Given the description of an element on the screen output the (x, y) to click on. 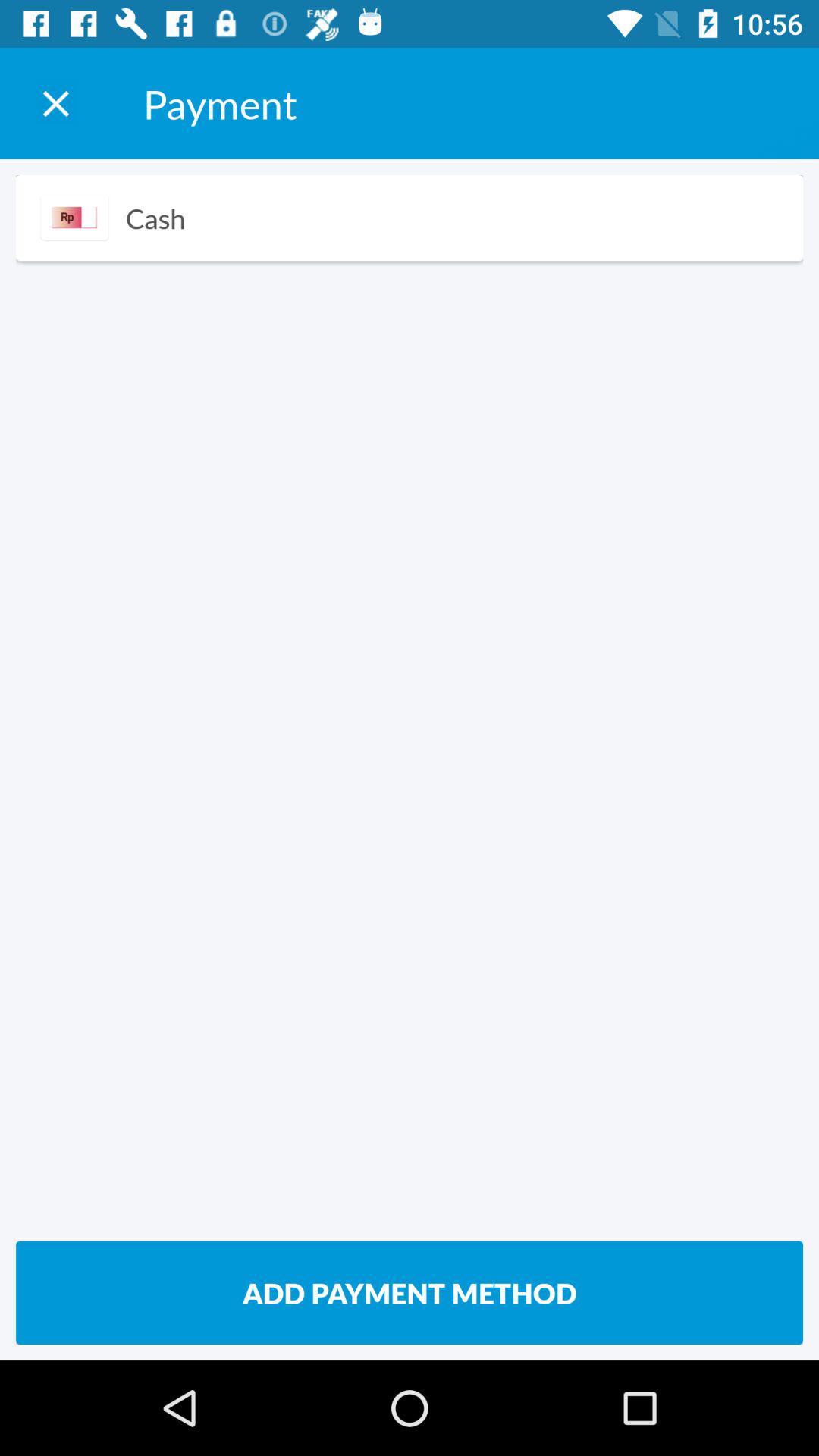
select icon above the add payment method (155, 218)
